Given the description of an element on the screen output the (x, y) to click on. 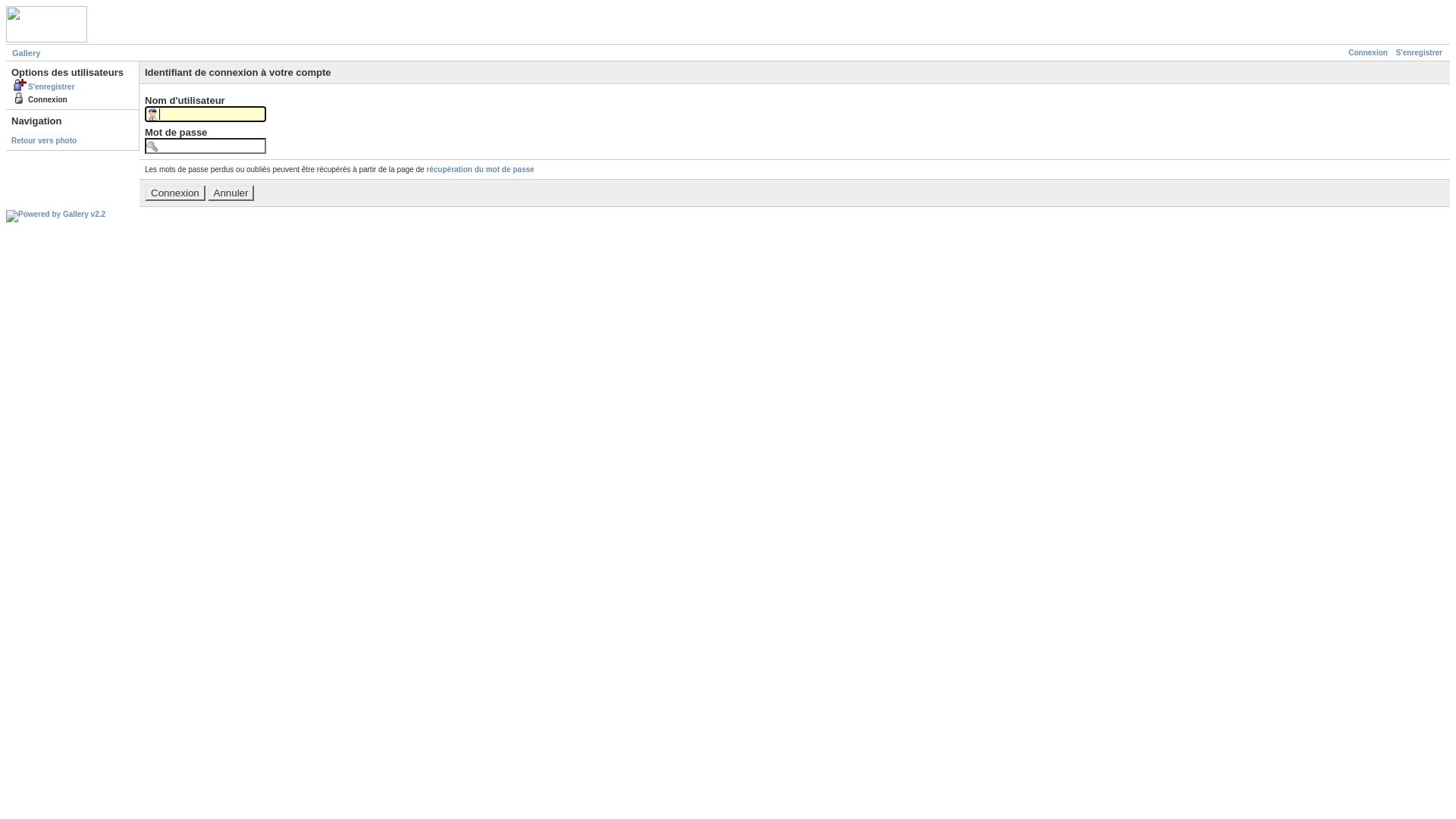
Retour vers photo Element type: text (43, 140)
Gallery Element type: text (26, 52)
Connexion Element type: text (1367, 52)
Powered by Gallery v2.2 Element type: hover (55, 216)
Annuler Element type: text (230, 192)
S'enregistrer Element type: text (42, 86)
S'enregistrer Element type: text (1419, 52)
Connexion Element type: text (174, 192)
